Given the description of an element on the screen output the (x, y) to click on. 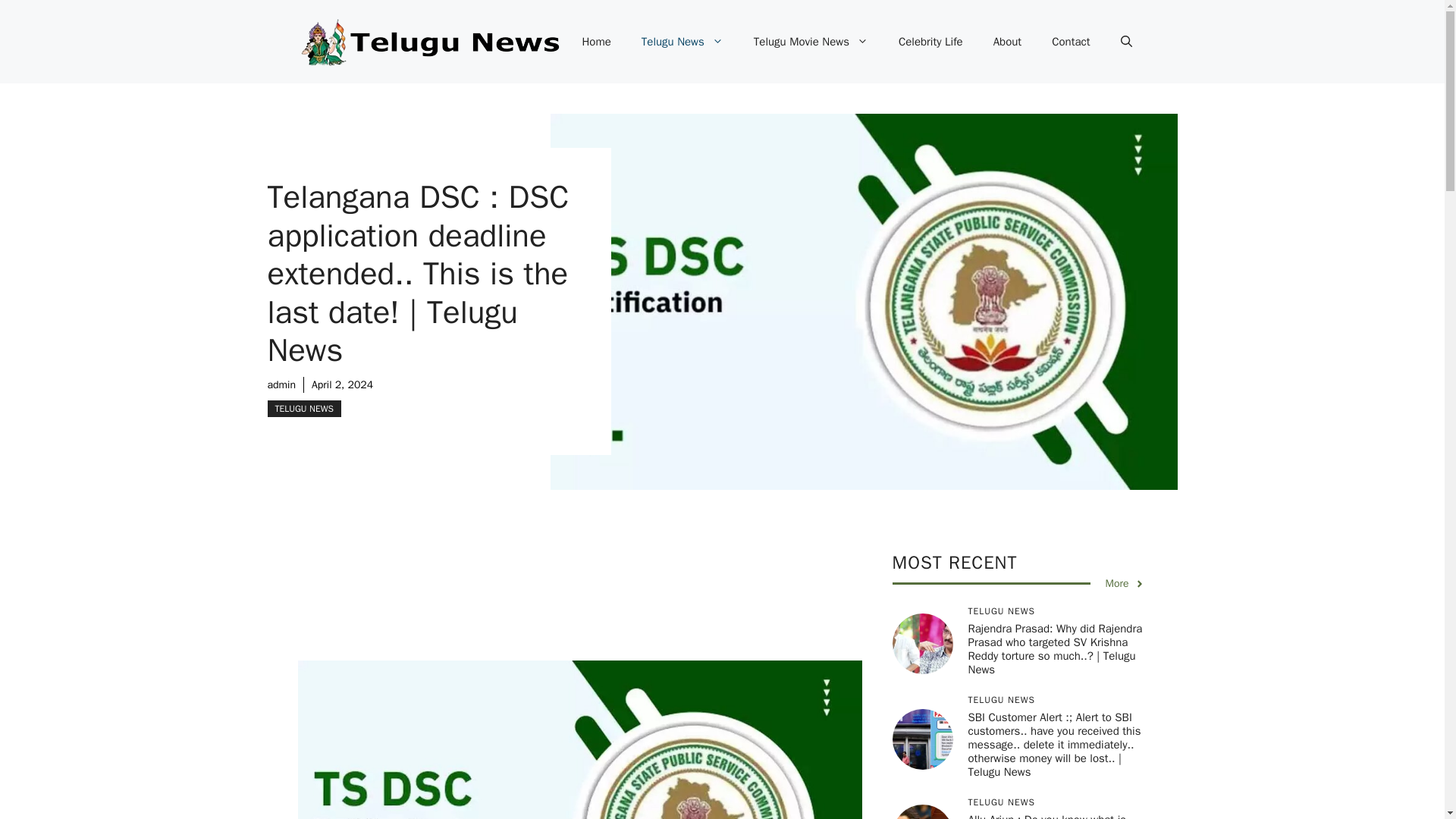
Advertisement (600, 605)
Telugu News (682, 41)
About (1007, 41)
Contact (1070, 41)
TELUGU NEWS (303, 408)
admin (280, 384)
Telugu Movie News (810, 41)
Celebrity Life (930, 41)
Home (596, 41)
